Given the description of an element on the screen output the (x, y) to click on. 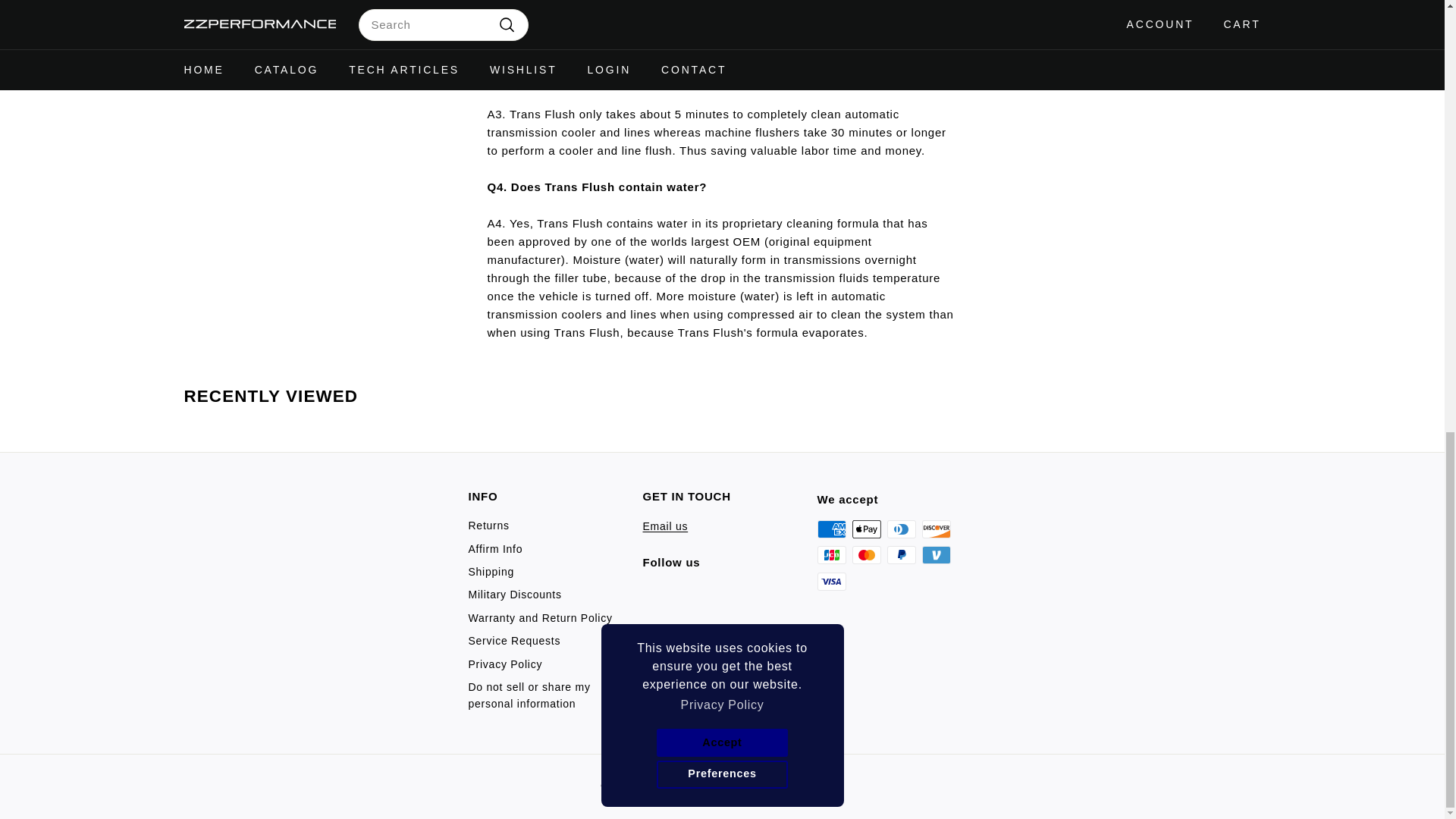
JCB (830, 555)
Visa (830, 581)
Venmo (935, 555)
Diners Club (900, 529)
Discover (935, 529)
Apple Pay (865, 529)
Mastercard (865, 555)
American Express (830, 529)
PayPal (900, 555)
